Given the description of an element on the screen output the (x, y) to click on. 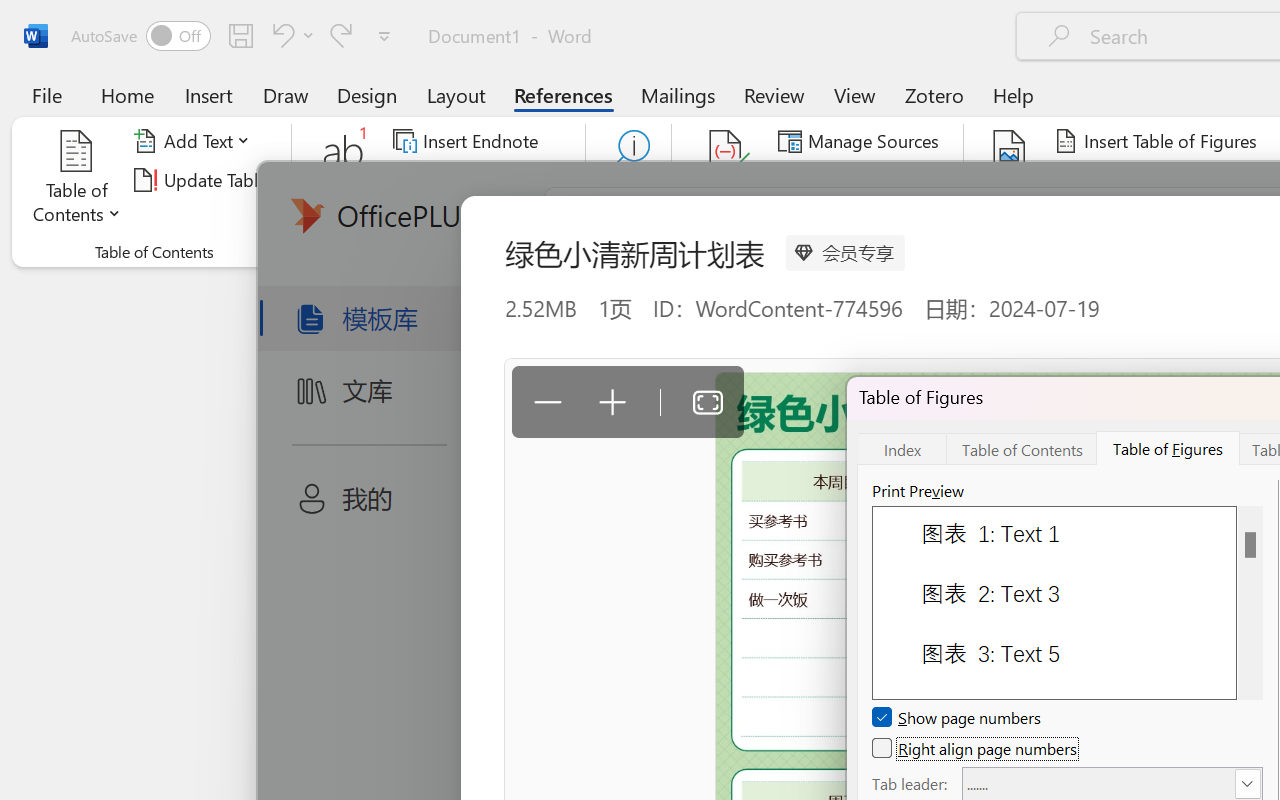
Insert Citation (726, 179)
Style (901, 179)
Add Text (195, 141)
Update Table... (204, 179)
Undo Apply Quick Style Set (280, 35)
Insert Caption... (1009, 180)
Redo Apply Quick Style (341, 35)
Bibliography (854, 218)
